Given the description of an element on the screen output the (x, y) to click on. 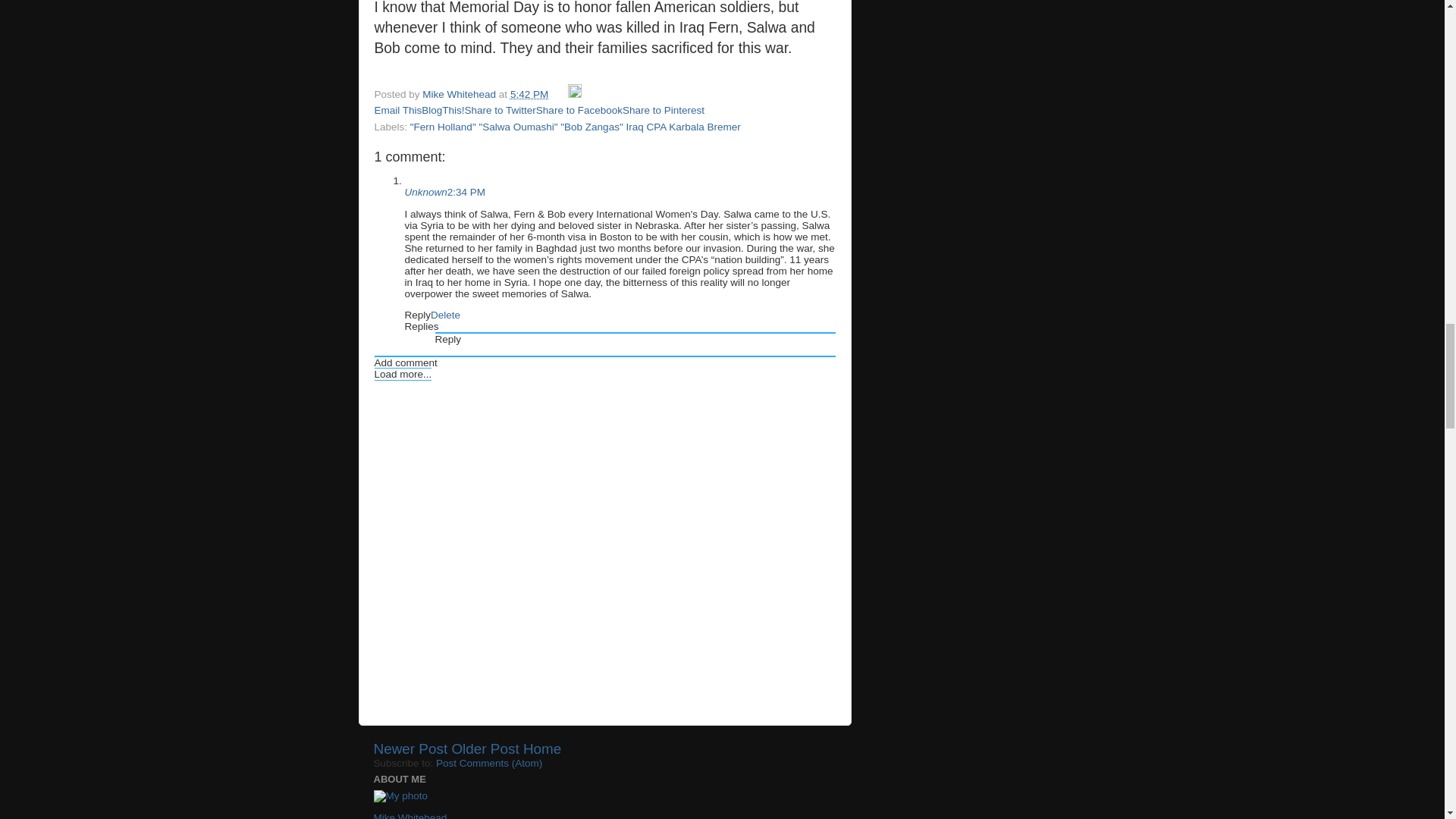
Mike Whitehead (460, 93)
BlogThis! (443, 110)
Older Post (484, 748)
Share to Pinterest (663, 110)
Delete (445, 315)
Unknown (425, 192)
2:34 PM (465, 192)
Reply (448, 338)
Mike Whitehead (409, 815)
Load more... (403, 373)
BlogThis! (443, 110)
Replies (421, 326)
Email This (398, 110)
author profile (460, 93)
